Given the description of an element on the screen output the (x, y) to click on. 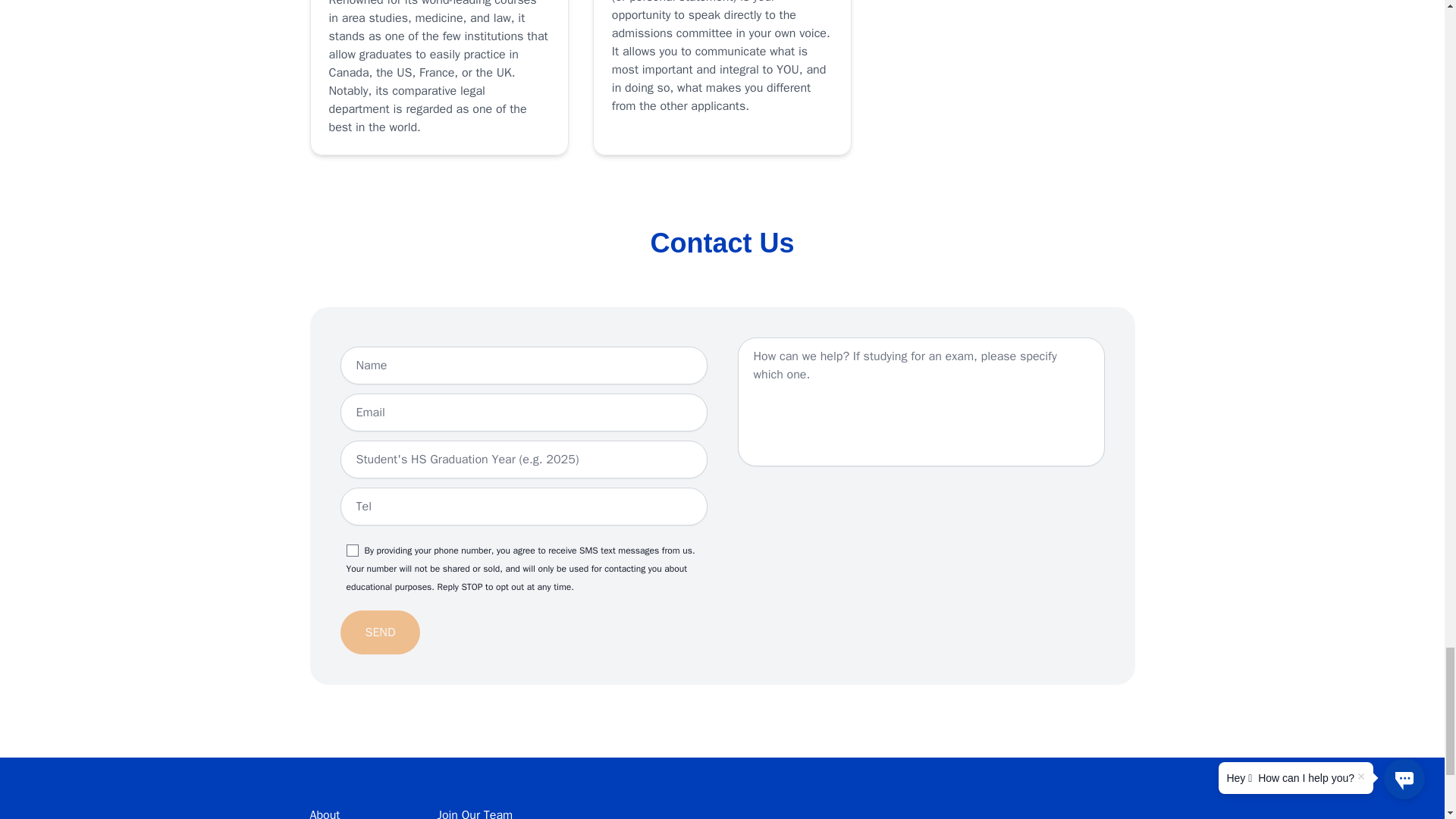
SEND (379, 632)
About (323, 813)
false (352, 550)
Join Our Team (474, 813)
